Given the description of an element on the screen output the (x, y) to click on. 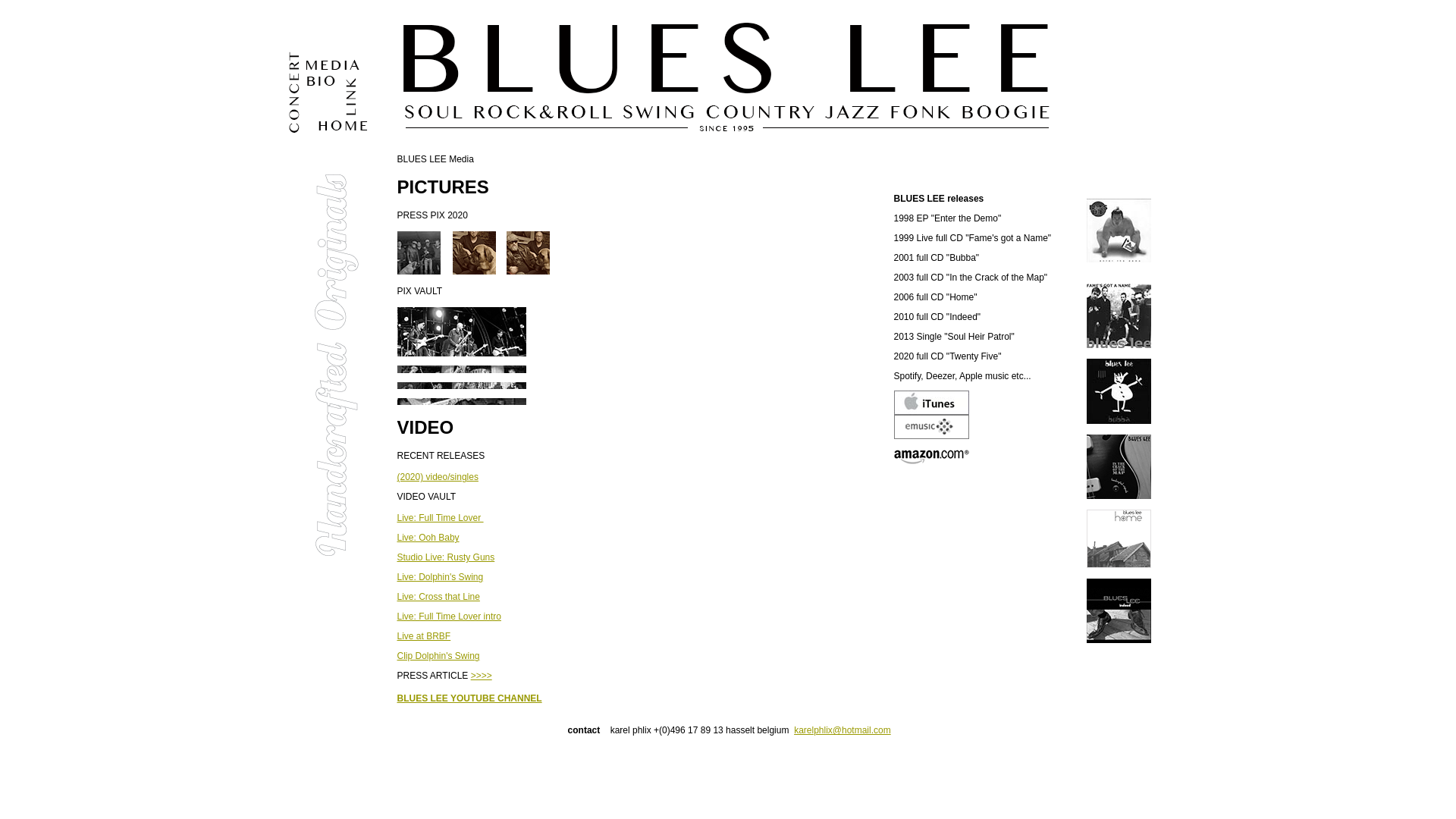
Live at BRBF Element type: text (424, 635)
Live: Ooh Baby Element type: text (428, 537)
karelphlix@hotmail.com Element type: text (842, 729)
Clip Dolphin's Swing Element type: text (438, 655)
Live: Dolphin's Swing Element type: text (440, 576)
Live: Cross that Line Element type: text (438, 596)
Live: Full Time Lover  Element type: text (440, 517)
BLUES LEE YOUTUBE CHANNEL Element type: text (469, 698)
(2020) video/singles Element type: text (437, 476)
>>>> Element type: text (481, 675)
Studio Live: Rusty Guns Element type: text (446, 557)
Live: Full Time Lover intro Element type: text (449, 616)
